Given the description of an element on the screen output the (x, y) to click on. 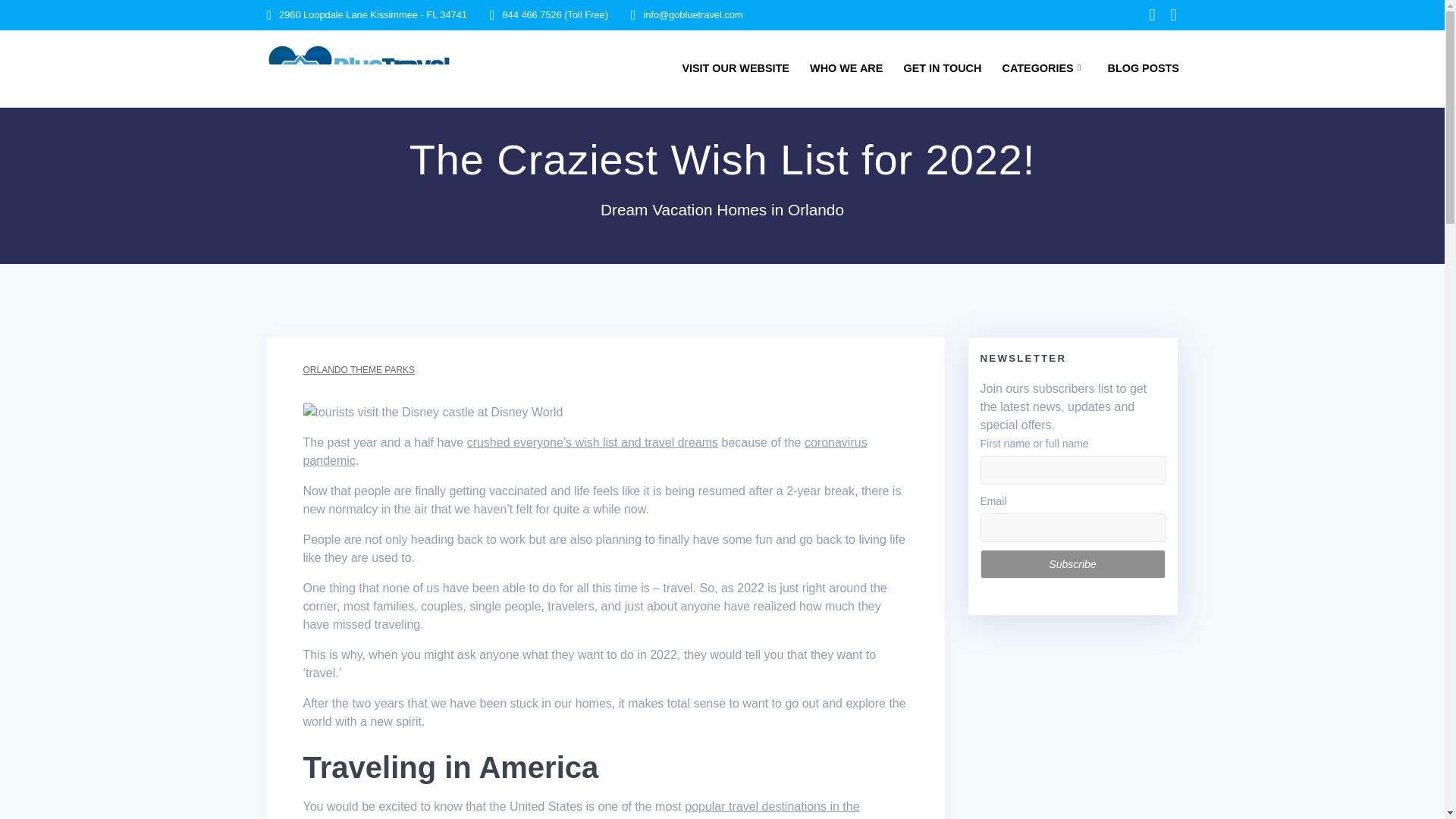
BLOG POSTS (1143, 67)
Subscribe (1071, 563)
CATEGORIES (1045, 67)
ORLANDO THEME PARKS (358, 369)
GET IN TOUCH (942, 67)
WHO WE ARE (845, 67)
VISIT OUR WEBSITE (735, 67)
